Given the description of an element on the screen output the (x, y) to click on. 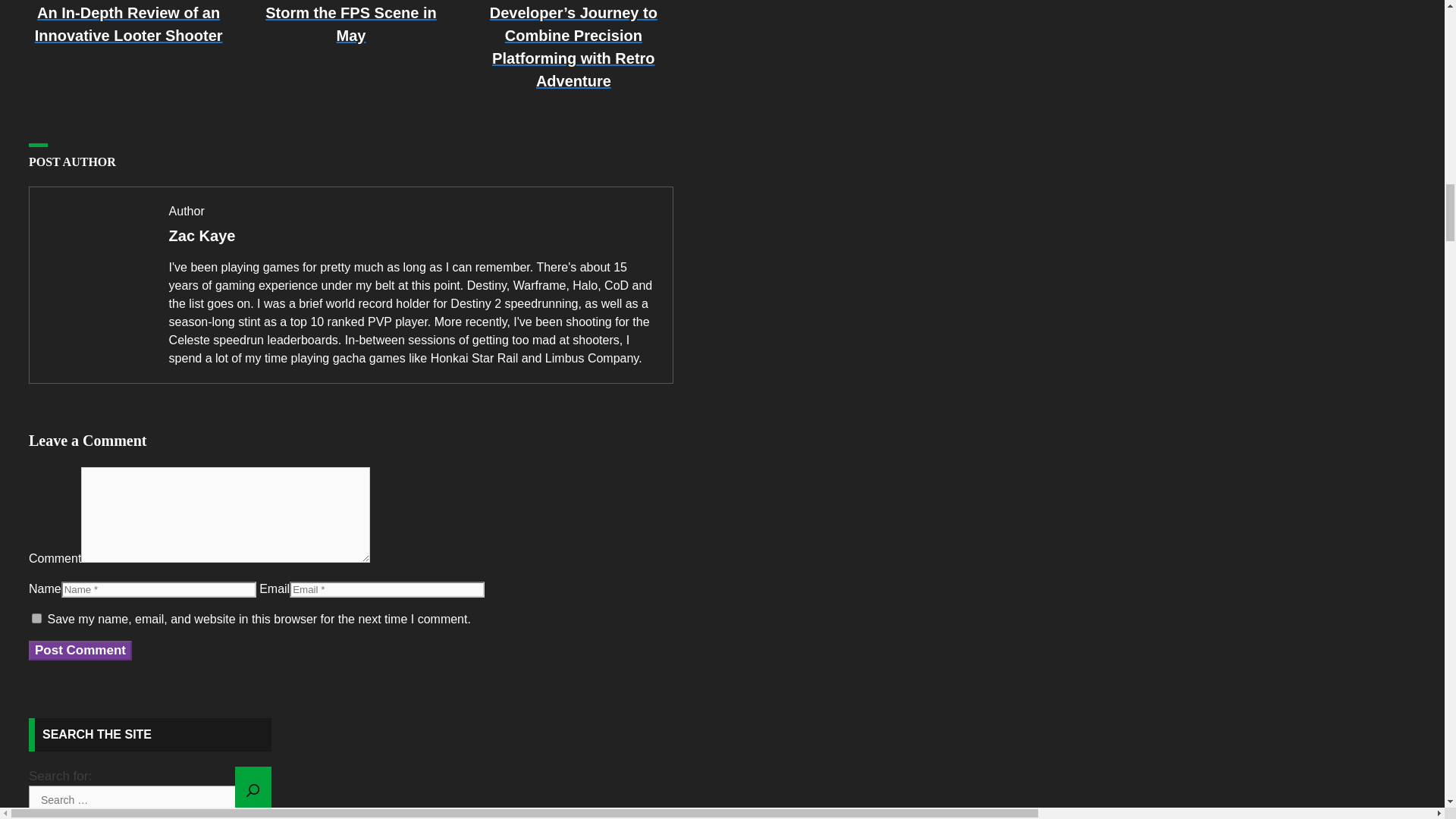
Search for: (149, 799)
yes (37, 618)
Post Comment (80, 650)
